Given the description of an element on the screen output the (x, y) to click on. 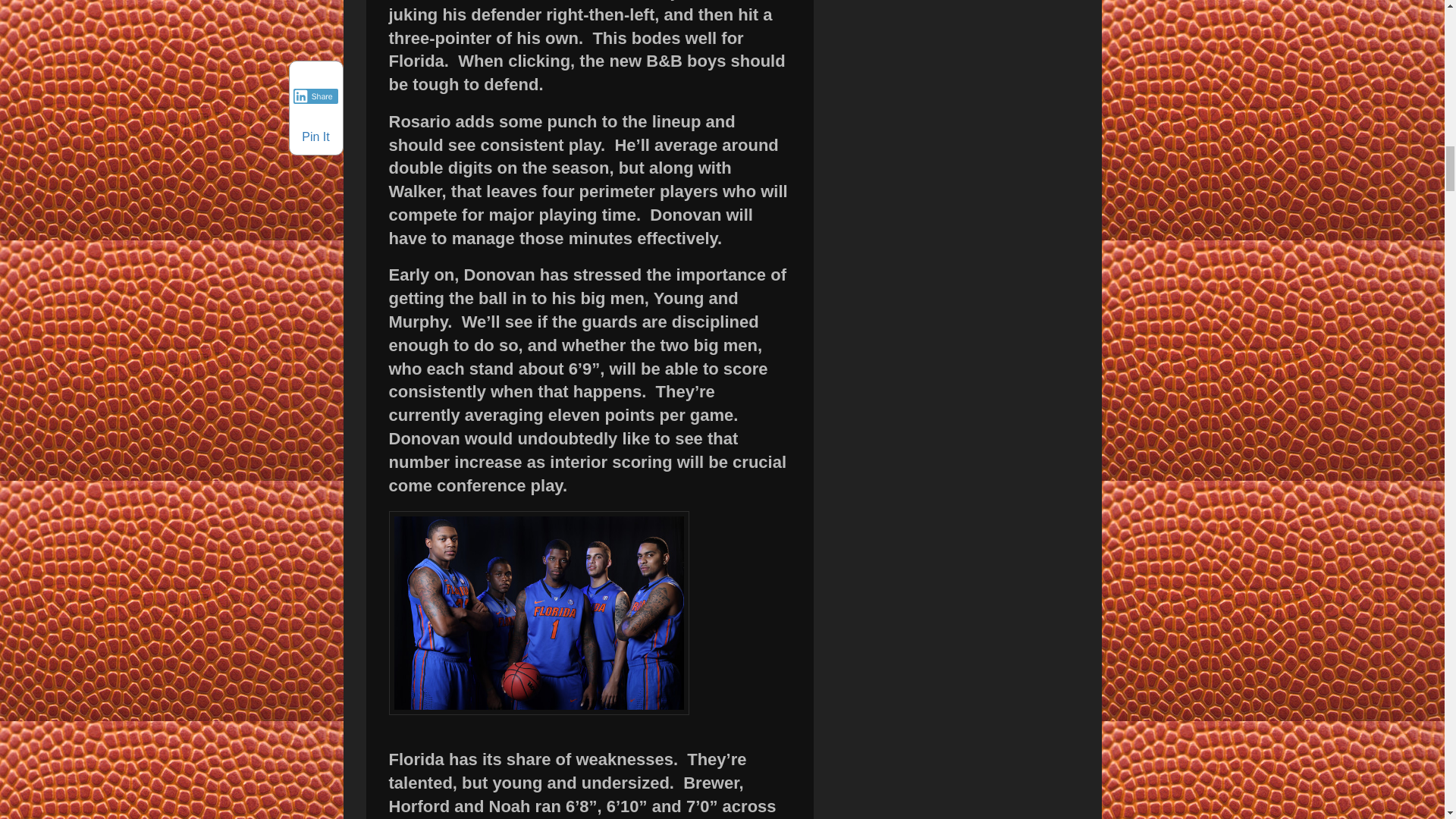
Gator guards (538, 612)
